Given the description of an element on the screen output the (x, y) to click on. 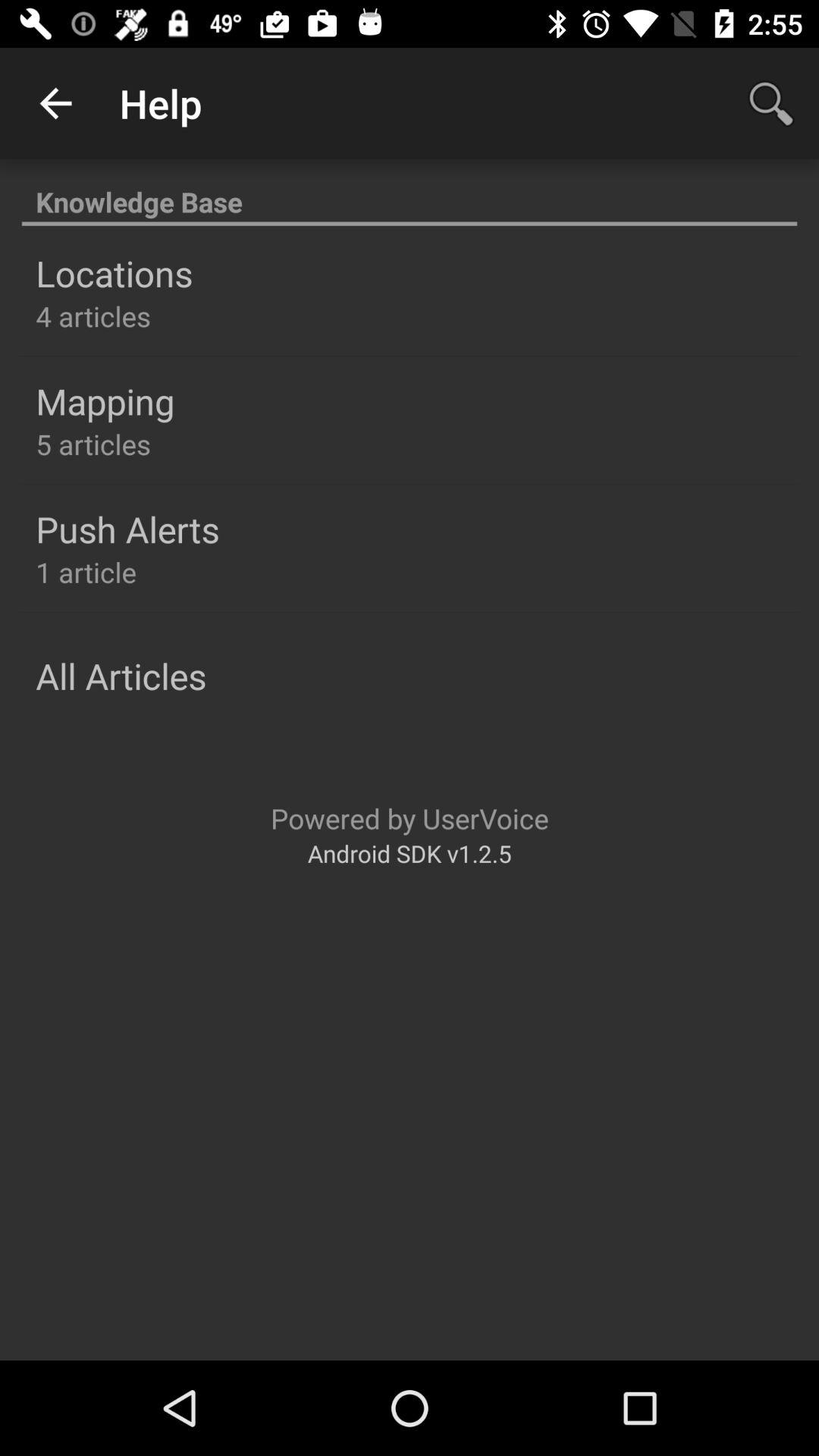
launch the item above the locations item (409, 193)
